Given the description of an element on the screen output the (x, y) to click on. 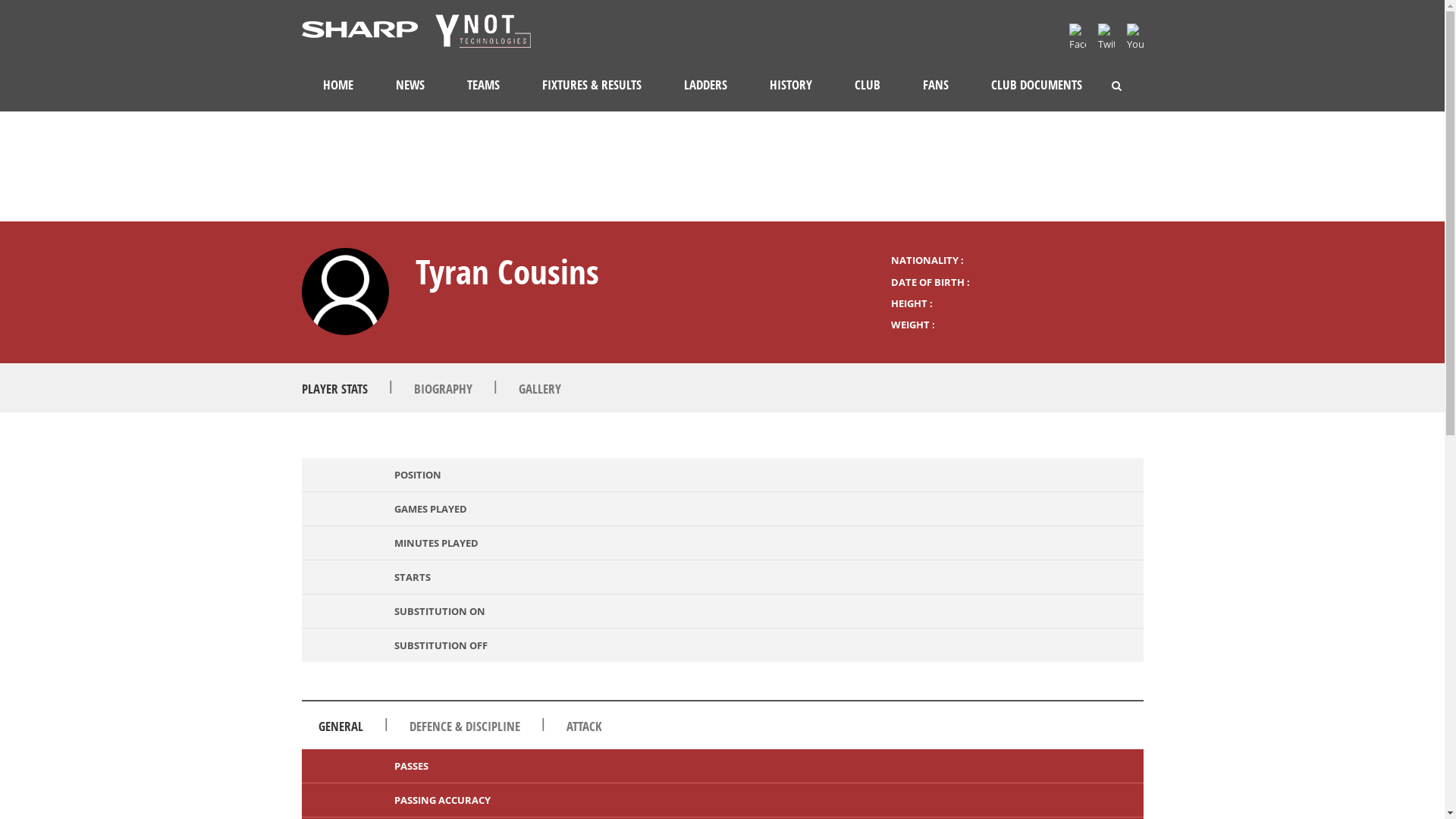
CLUB DOCUMENTS Element type: text (1035, 85)
FANS Element type: text (934, 85)
HOME Element type: text (337, 85)
GENERAL Element type: text (340, 725)
DEFENCE & DISCIPLINE Element type: text (464, 725)
CLUB Element type: text (866, 85)
GALLERY Element type: text (539, 388)
FIXTURES & RESULTS Element type: text (591, 85)
LADDERS Element type: text (705, 85)
nopic Element type: hover (345, 291)
BIOGRAPHY Element type: text (443, 388)
PLAYER STATS Element type: text (334, 388)
ATTACK Element type: text (583, 725)
TEAMS Element type: text (482, 85)
NEWS Element type: text (409, 85)
HISTORY Element type: text (789, 85)
